Given the description of an element on the screen output the (x, y) to click on. 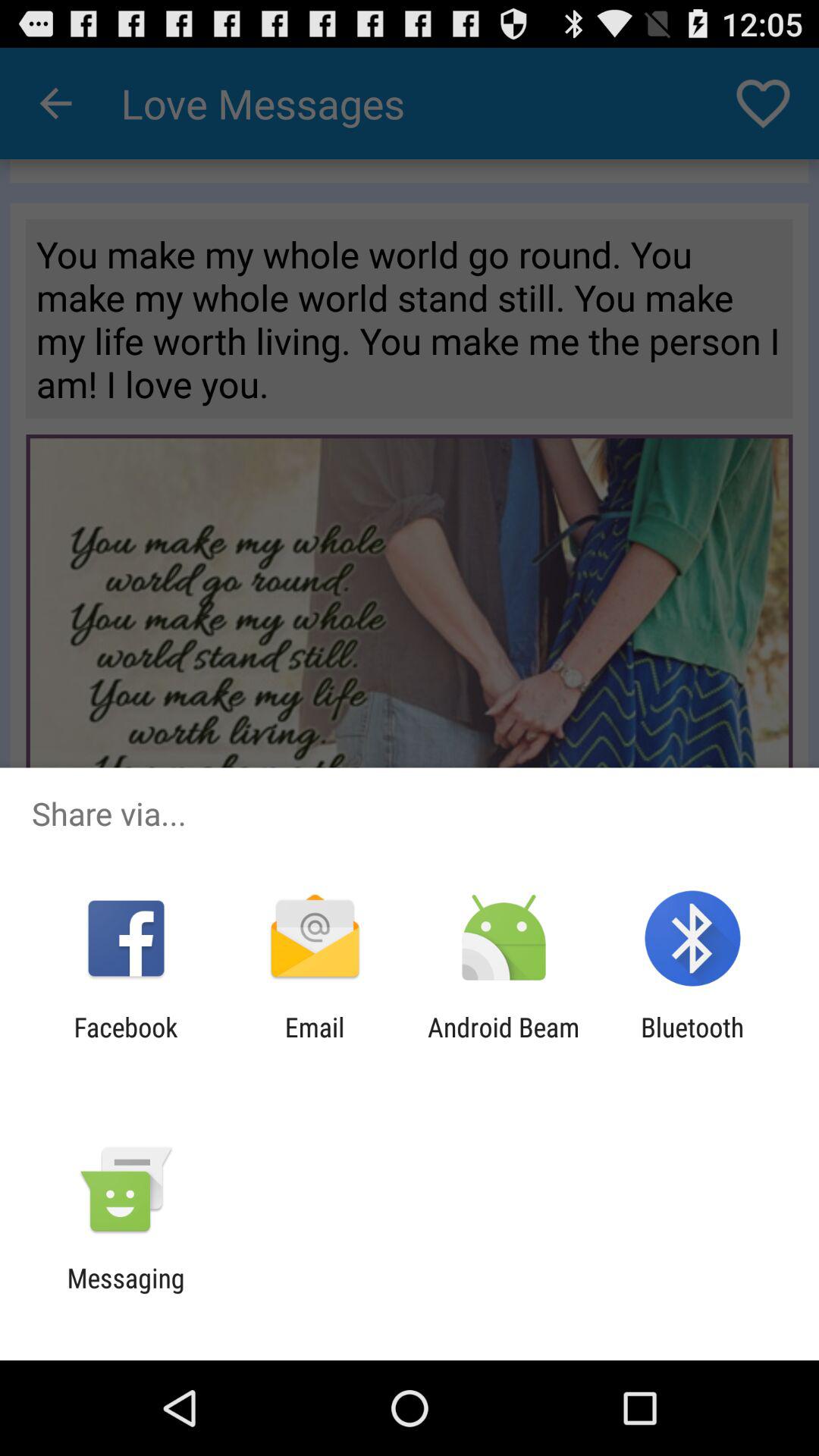
launch the item next to facebook (314, 1042)
